Given the description of an element on the screen output the (x, y) to click on. 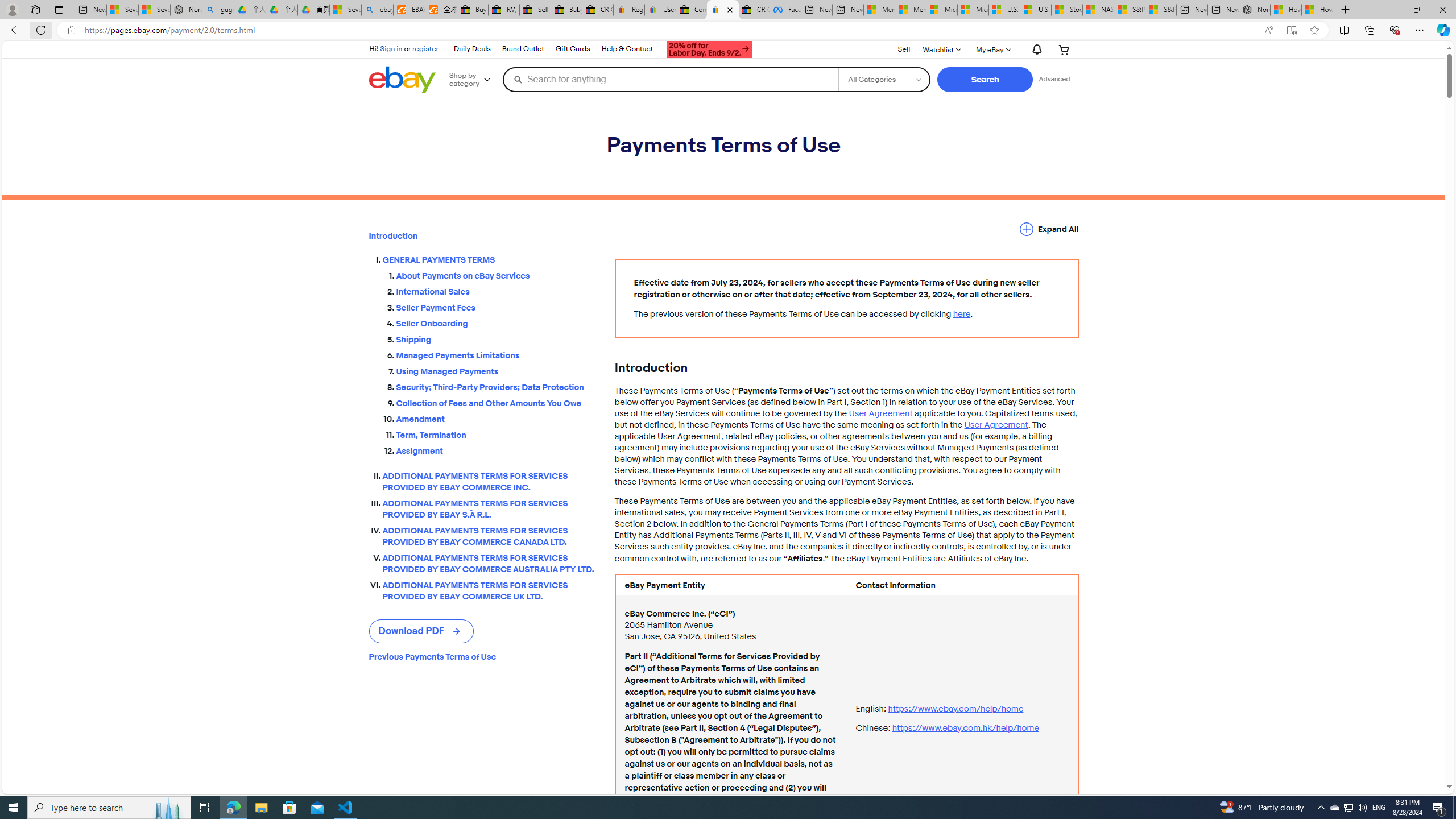
Download PDF  (421, 631)
RV, Trailer & Camper Steps & Ladders for sale | eBay (503, 9)
Watchlist (940, 49)
User Agreement (995, 424)
Brand Outlet (523, 49)
Seller Onboarding (496, 323)
Using Managed Payments (496, 369)
register (425, 48)
